Given the description of an element on the screen output the (x, y) to click on. 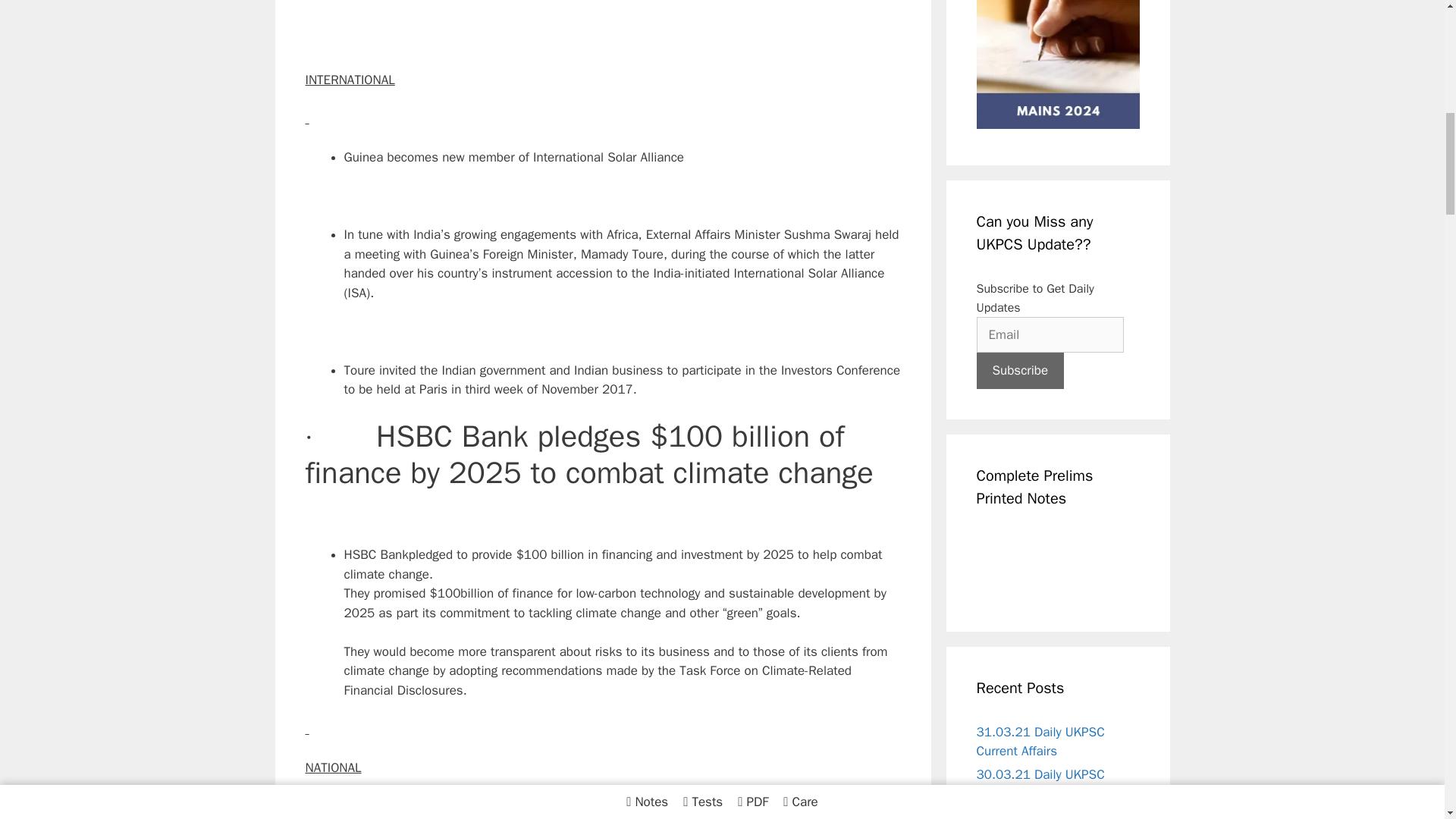
Subscribe (1020, 370)
